Given the description of an element on the screen output the (x, y) to click on. 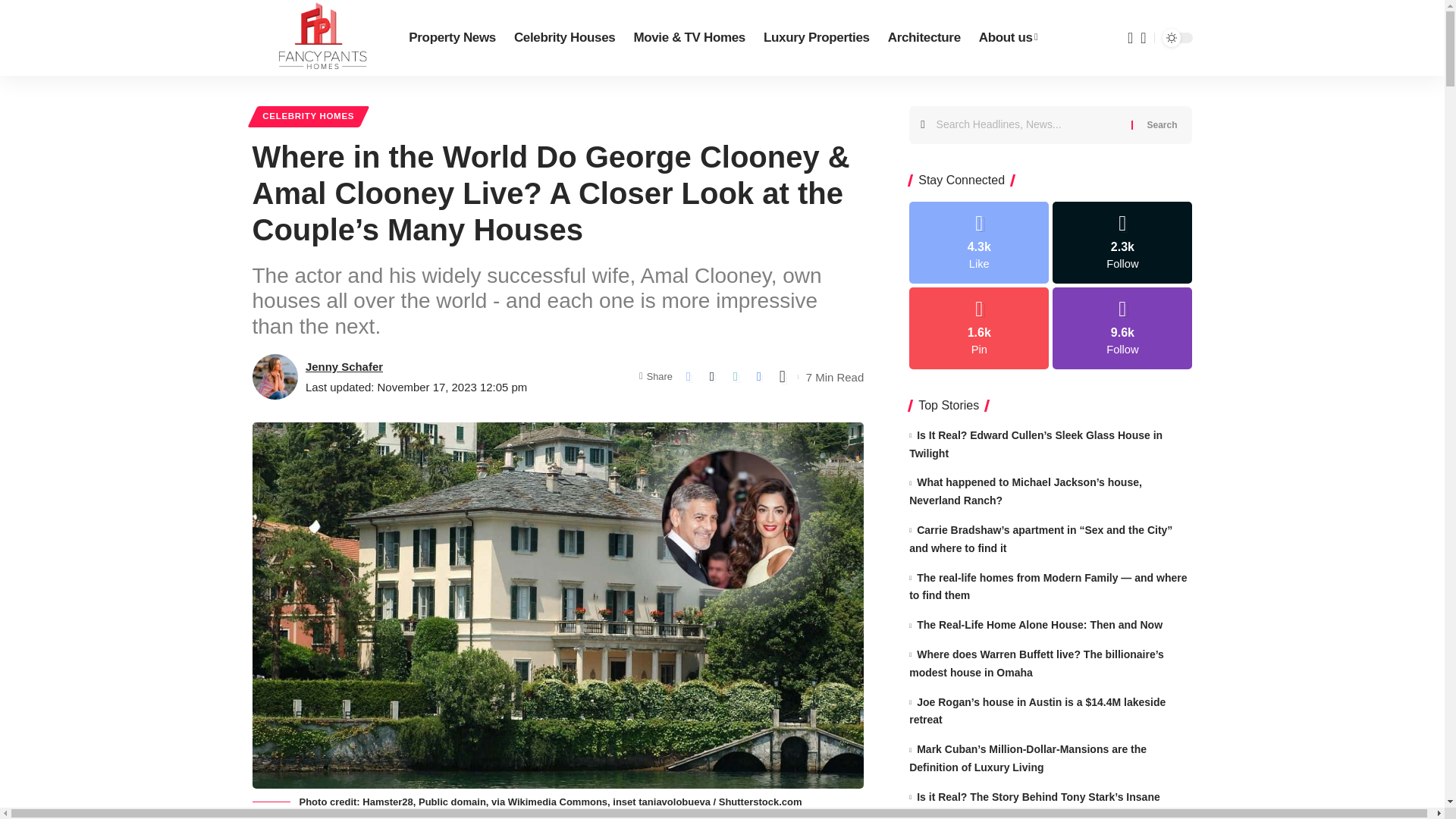
Luxury Properties (816, 37)
Fancy Pants Homes (317, 38)
CELEBRITY HOMES (307, 116)
Property news  (451, 37)
Property News (451, 37)
About us (1007, 37)
Architecture (924, 37)
Jenny Schafer (343, 366)
Search (1161, 125)
Celebrity Houses (564, 37)
